Given the description of an element on the screen output the (x, y) to click on. 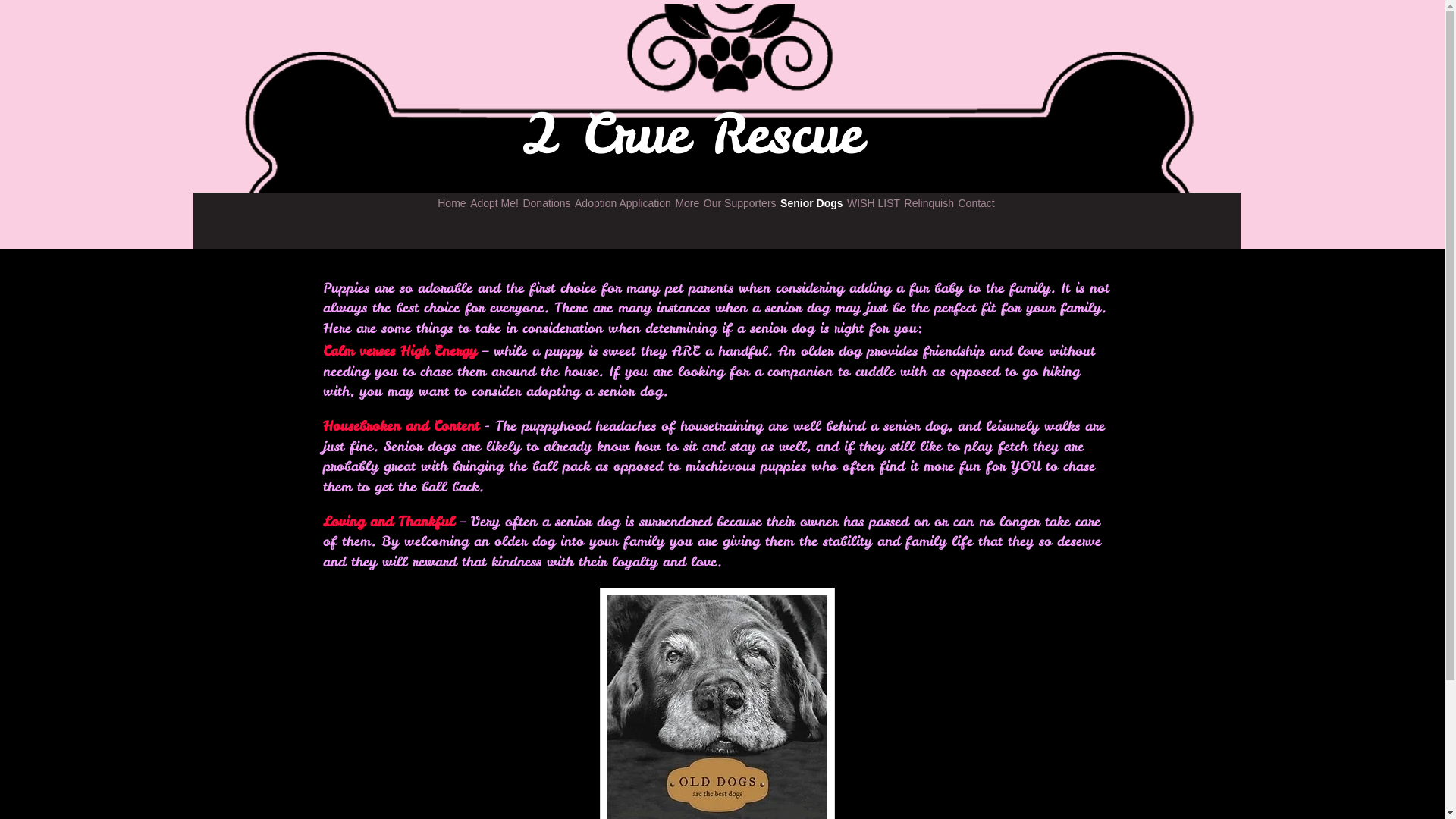
Home Element type: text (451, 202)
More Element type: text (687, 202)
Donations Element type: text (546, 202)
Relinquish Element type: text (929, 202)
Contact Element type: text (976, 202)
WISH LIST Element type: text (873, 202)
Senior Dogs Element type: text (811, 202)
Our Supporters Element type: text (739, 202)
Adopt Me! Element type: text (493, 202)
Adoption Application Element type: text (622, 202)
